Given the description of an element on the screen output the (x, y) to click on. 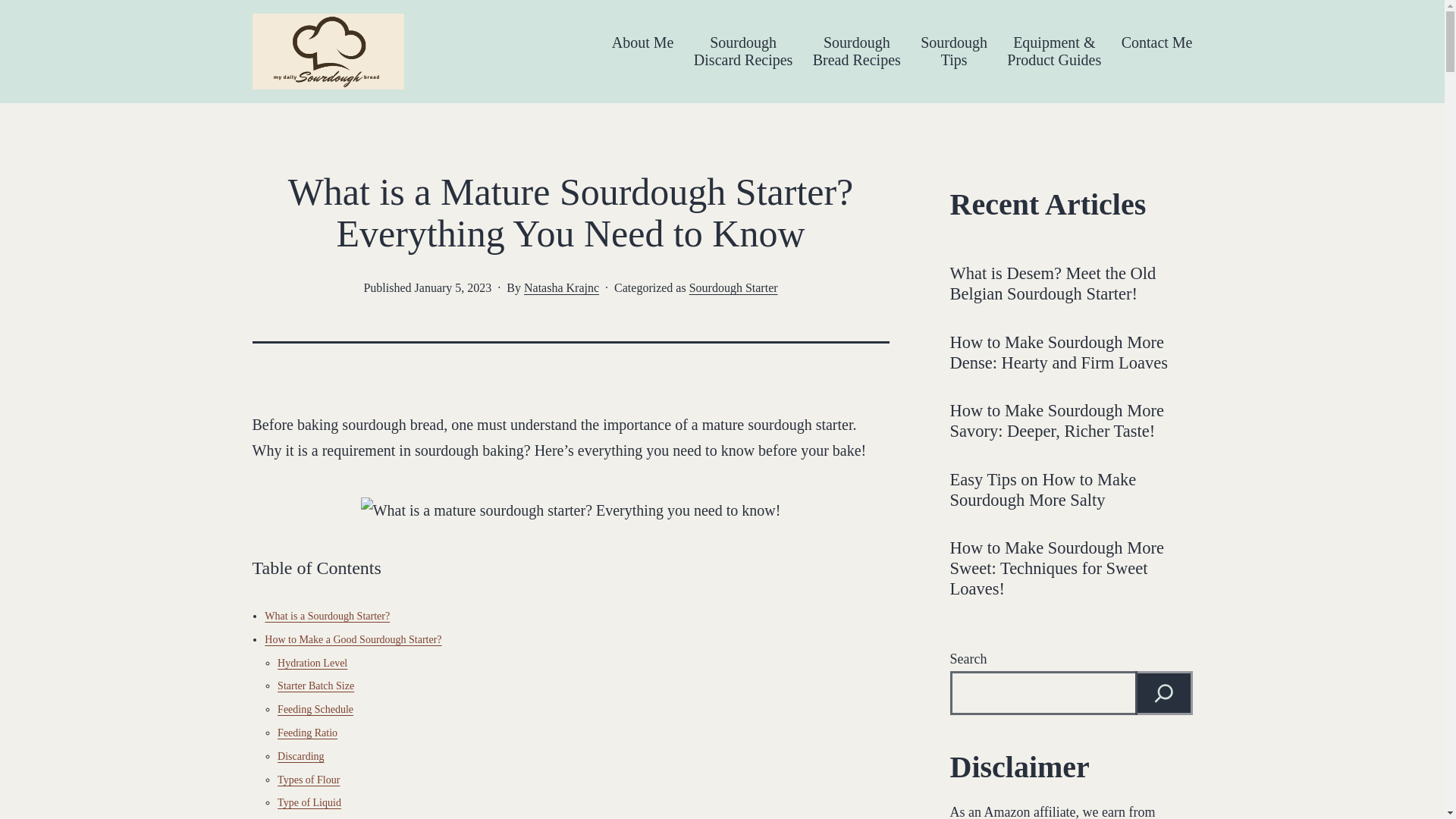
Types of Flour (308, 779)
Starter Batch Size (743, 51)
Sourdough Starter (315, 685)
What is a Sourdough Starter? (732, 287)
Feeding Schedule (327, 615)
Hydration Level (315, 708)
Discarding (312, 663)
How to Make a Good Sourdough Starter? (300, 756)
